Given the description of an element on the screen output the (x, y) to click on. 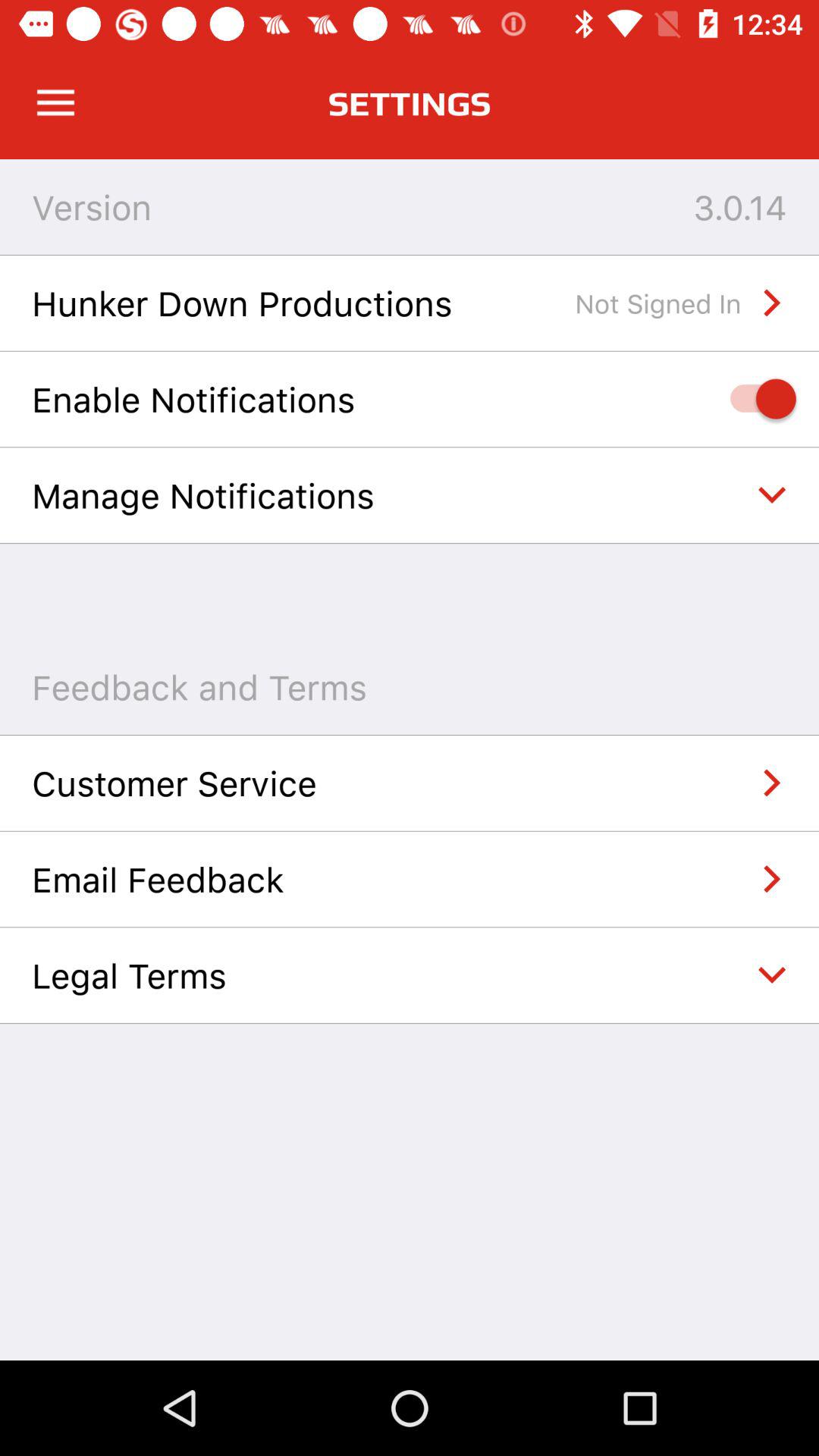
turn off icon above the version item (55, 103)
